Given the description of an element on the screen output the (x, y) to click on. 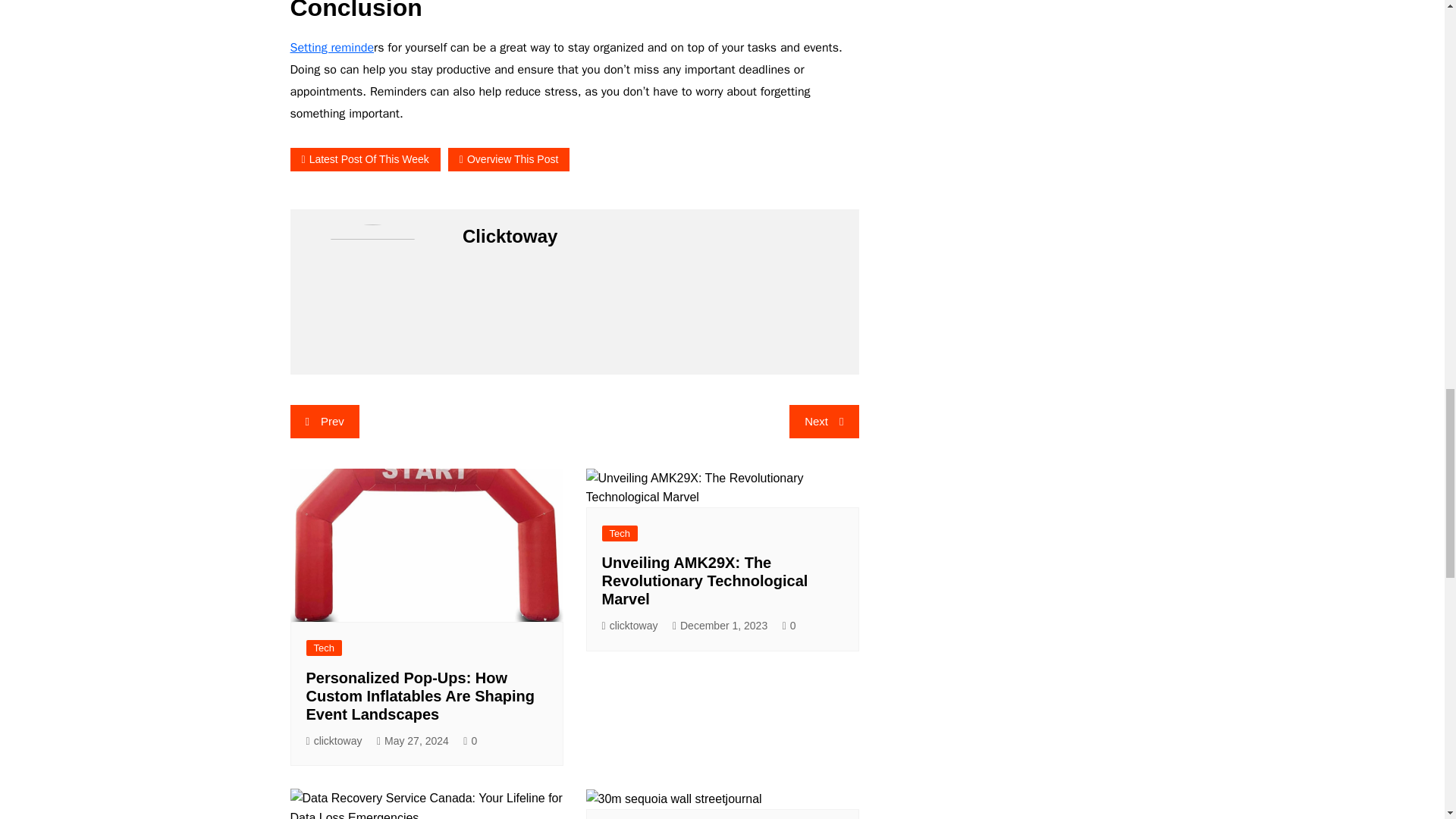
Tech (323, 647)
May 27, 2024 (412, 741)
Setting reminde (331, 47)
clicktoway (333, 741)
Prev (323, 421)
Next (824, 421)
Latest Post Of This Week (364, 159)
Overview This Post (508, 159)
